Given the description of an element on the screen output the (x, y) to click on. 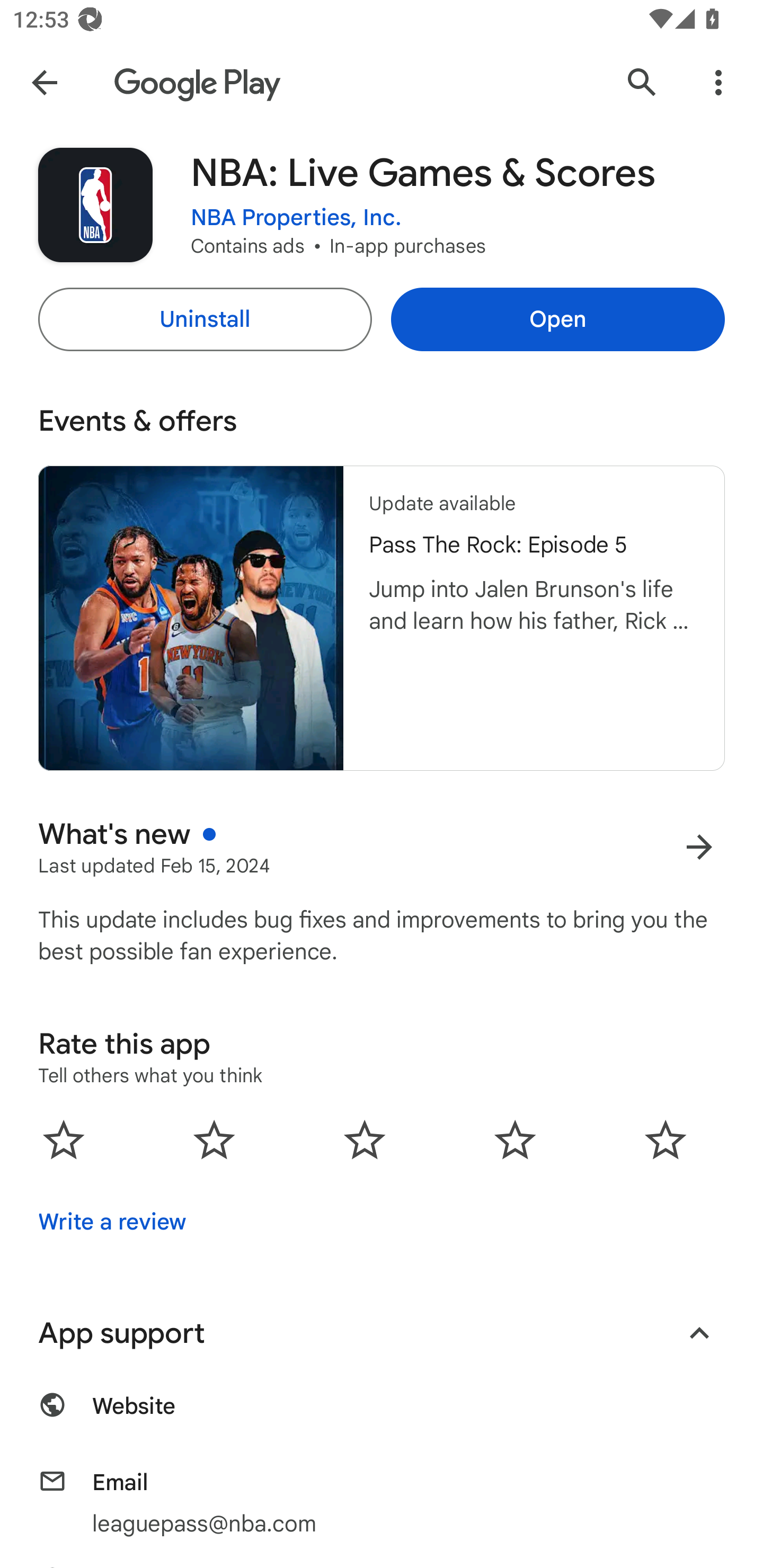
Navigate up (44, 81)
Search Google Play (642, 81)
More Options (718, 81)
NBA Properties, Inc. (295, 217)
Uninstall (205, 318)
Open (557, 318)
More results for What's new (699, 847)
0.0 (364, 1138)
Write a review (112, 1221)
App support Collapse (381, 1333)
Collapse (699, 1333)
Website (381, 1415)
Email leaguepass@nba.com (381, 1502)
